Given the description of an element on the screen output the (x, y) to click on. 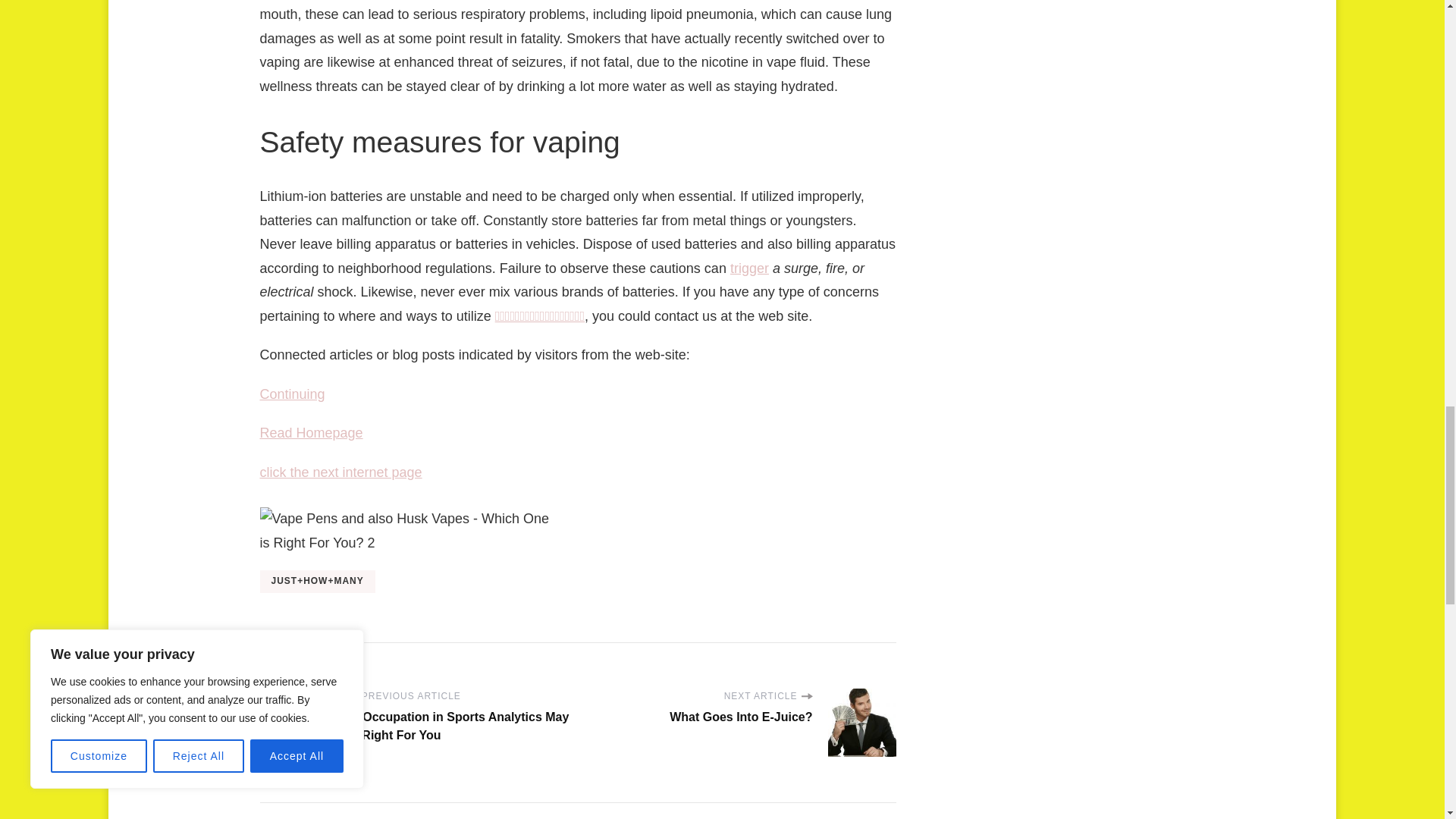
Read Homepage (310, 432)
trigger (749, 268)
click the next internet page (340, 472)
Continuing (291, 394)
